Given the description of an element on the screen output the (x, y) to click on. 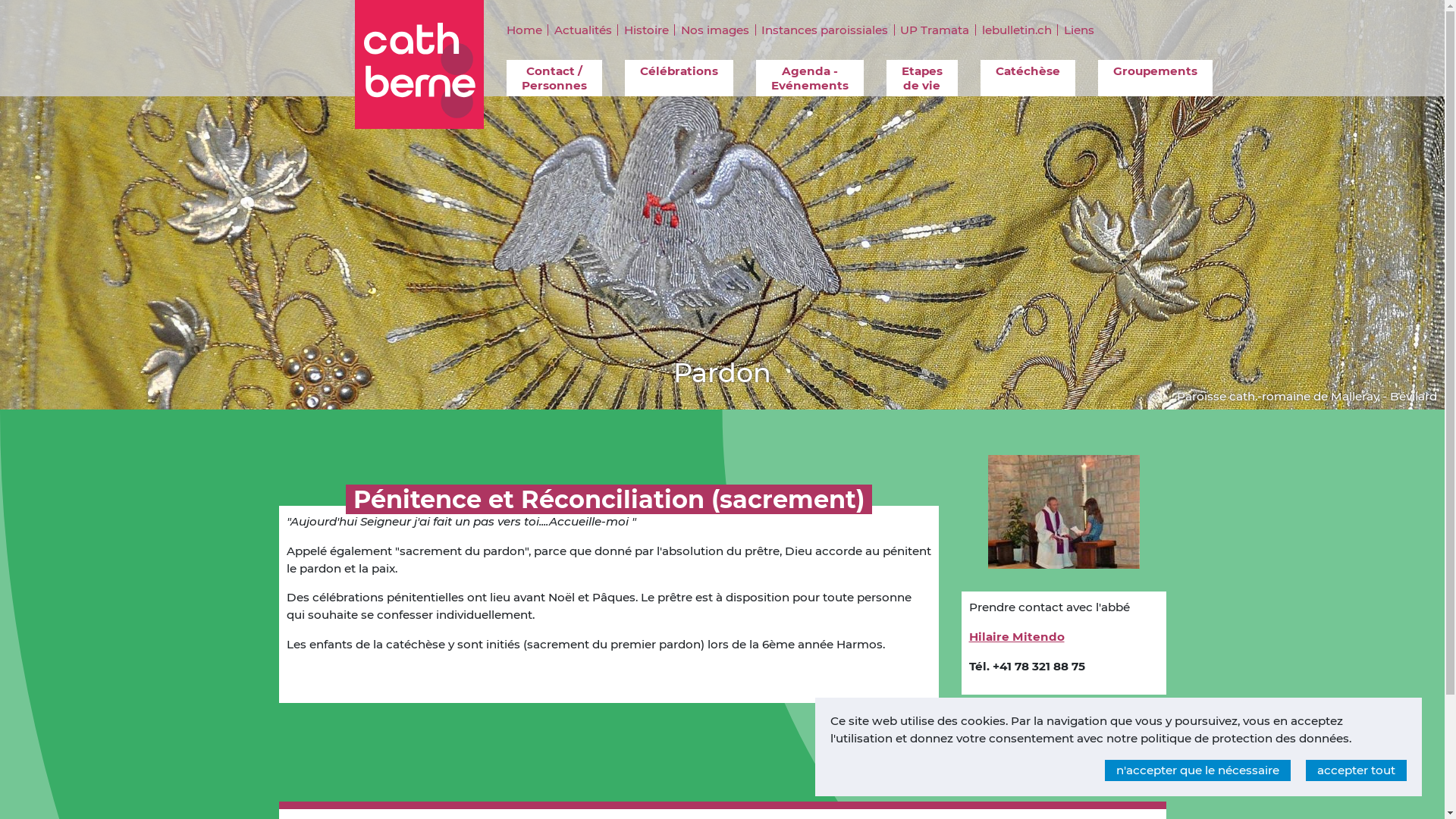
Instances paroissiales Element type: text (824, 29)
Groupements Element type: text (1155, 77)
lebulletin.ch Element type: text (1016, 29)
Nos images Element type: text (714, 29)
Histoire Element type: text (645, 29)
accepter tout Element type: text (1355, 770)
Hilaire Mitendo Element type: text (1016, 636)
Liens Element type: text (1078, 29)
Home Element type: text (527, 29)
UP Tramata Element type: text (934, 29)
Etapes de vie Element type: text (921, 77)
Contact / Personnes Element type: text (554, 77)
